Given the description of an element on the screen output the (x, y) to click on. 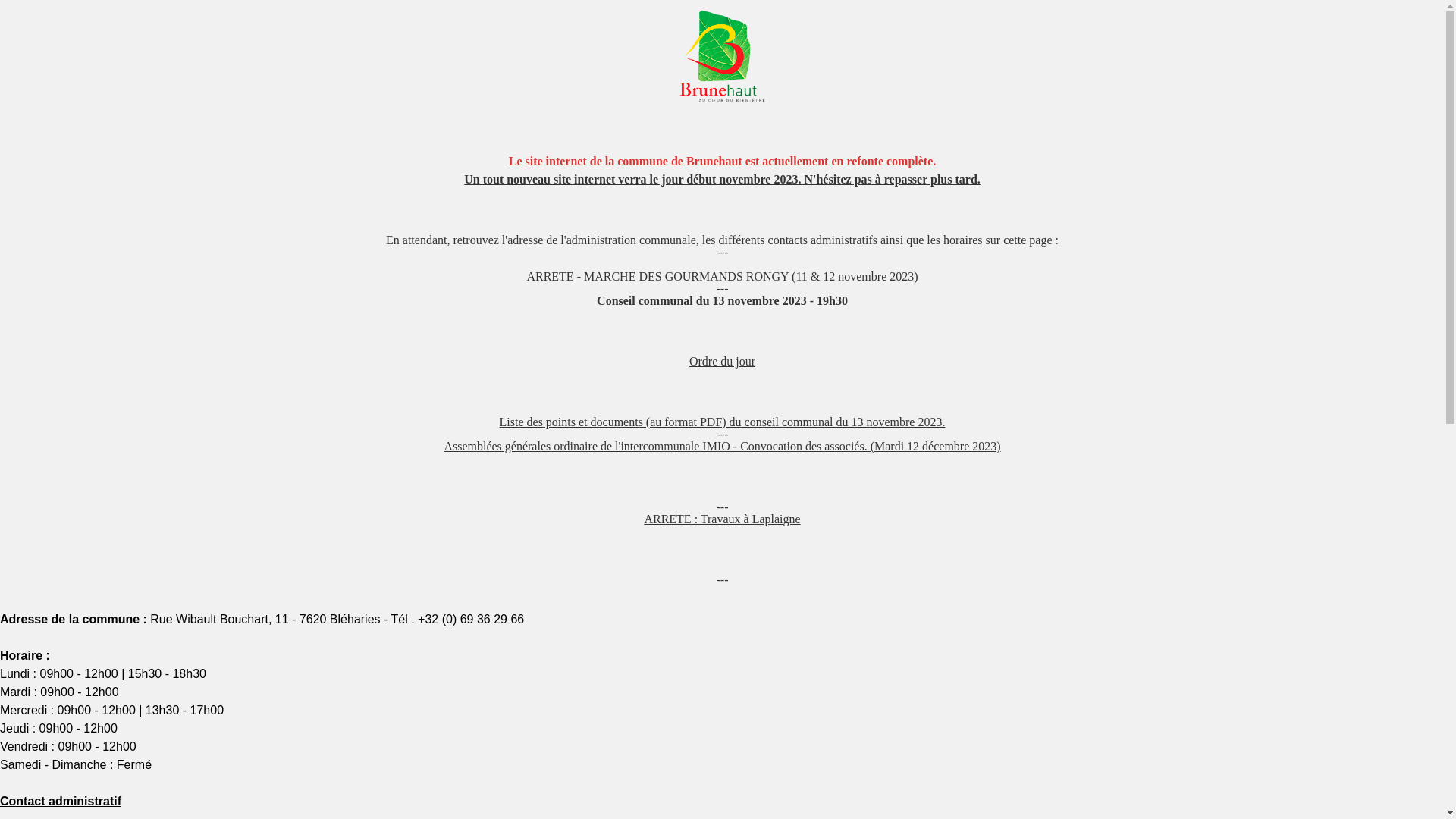
ARRETE - MARCHE DES GOURMANDS RONGY (11 & 12 novembre 2023) Element type: text (721, 275)
Ordre du jour Element type: text (722, 360)
